Given the description of an element on the screen output the (x, y) to click on. 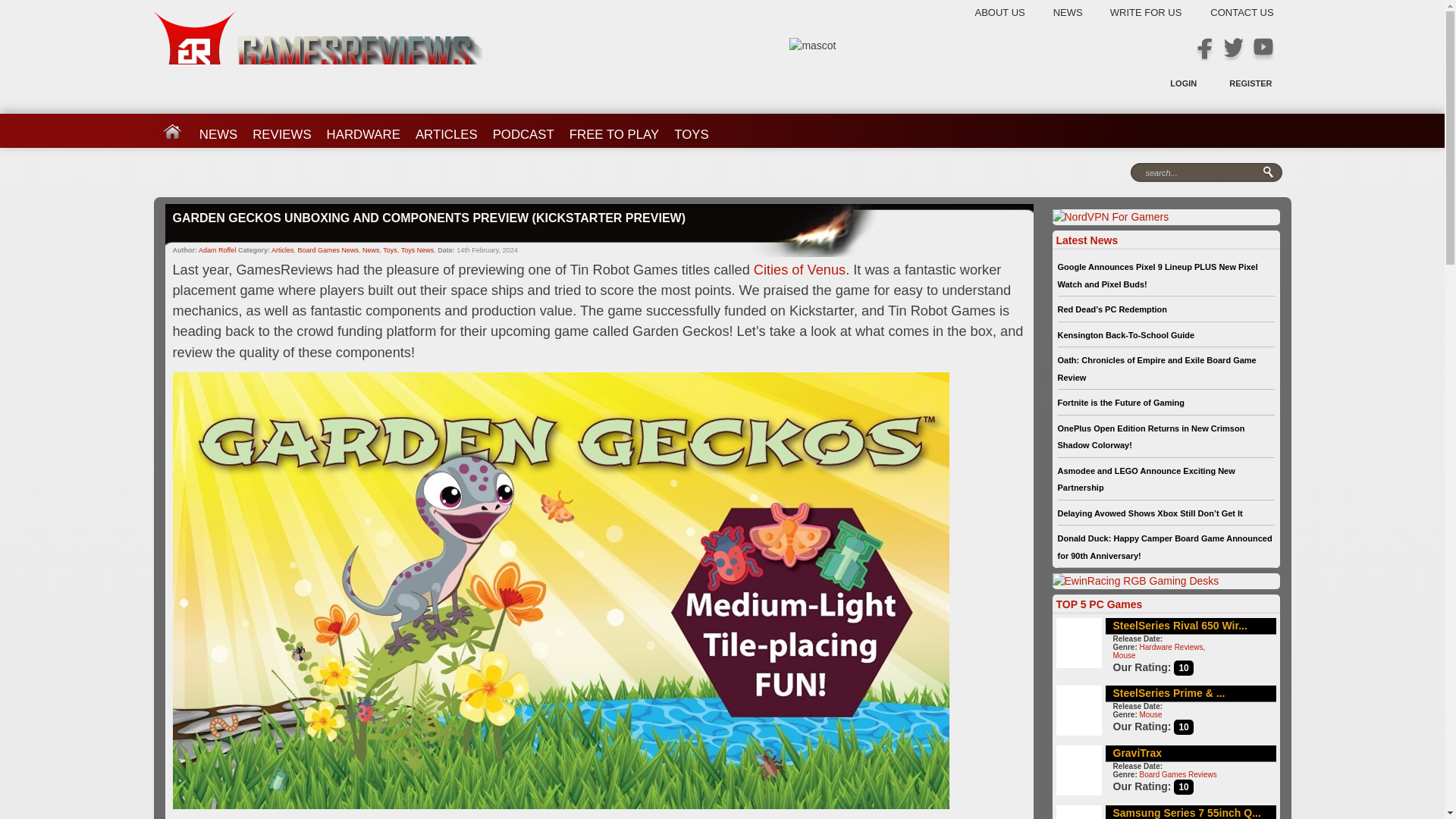
We use NordVPN (1110, 217)
GraviTrax Review (1137, 752)
GR Man (812, 45)
ARTICLES (445, 128)
WRITE FOR US (1157, 12)
SteelSeries Rival 650 Wireless Gaming Mouse Review (1180, 625)
LOGIN (1183, 82)
Posts by Adam Roffel (216, 249)
Follow Us On Youtube (1262, 48)
NEWS (1079, 12)
